Given the description of an element on the screen output the (x, y) to click on. 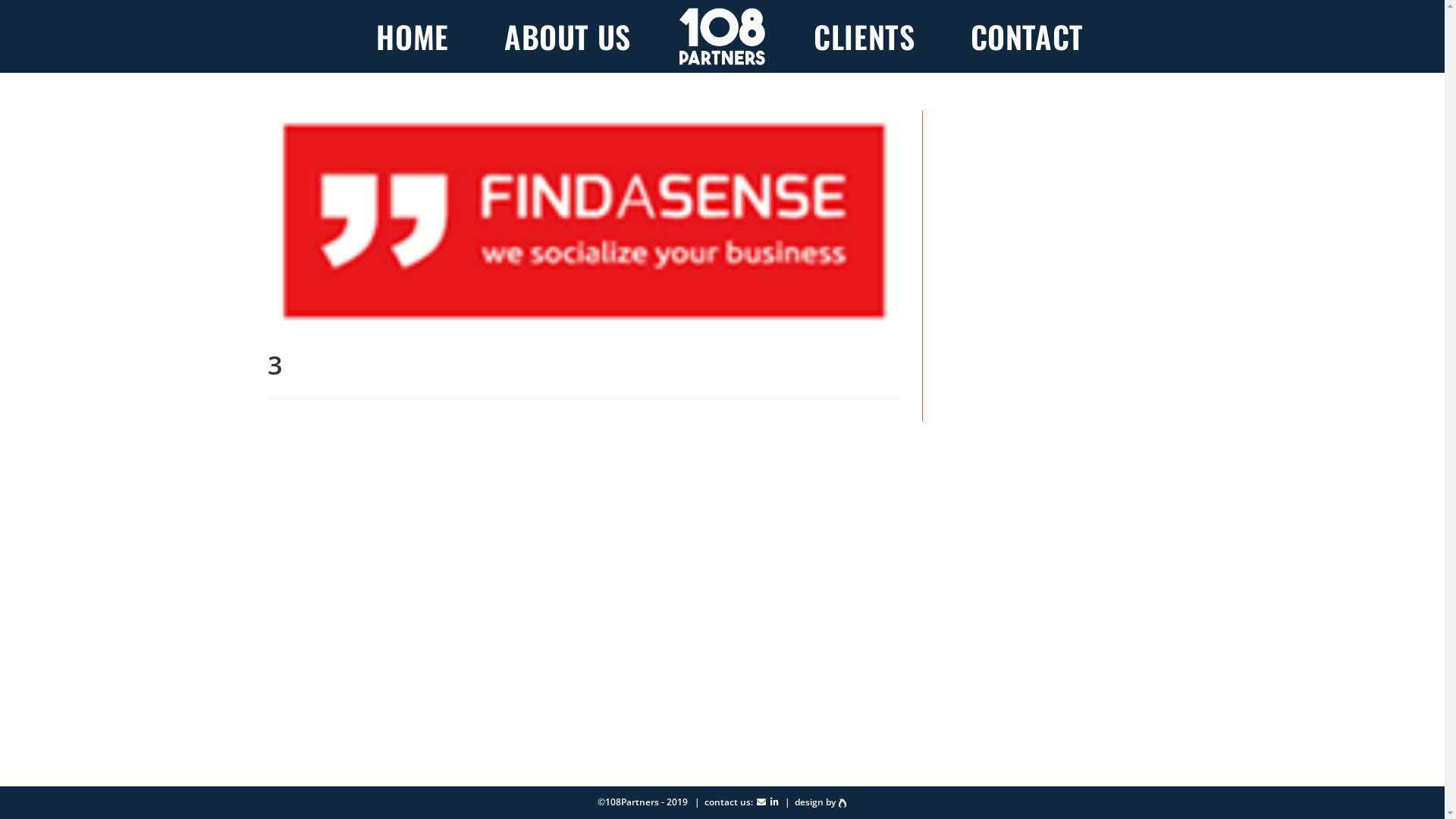
HOME Element type: text (412, 36)
CLIENTS Element type: text (863, 36)
CONTACT Element type: text (1026, 36)
ABOUT US Element type: text (567, 36)
